Given the description of an element on the screen output the (x, y) to click on. 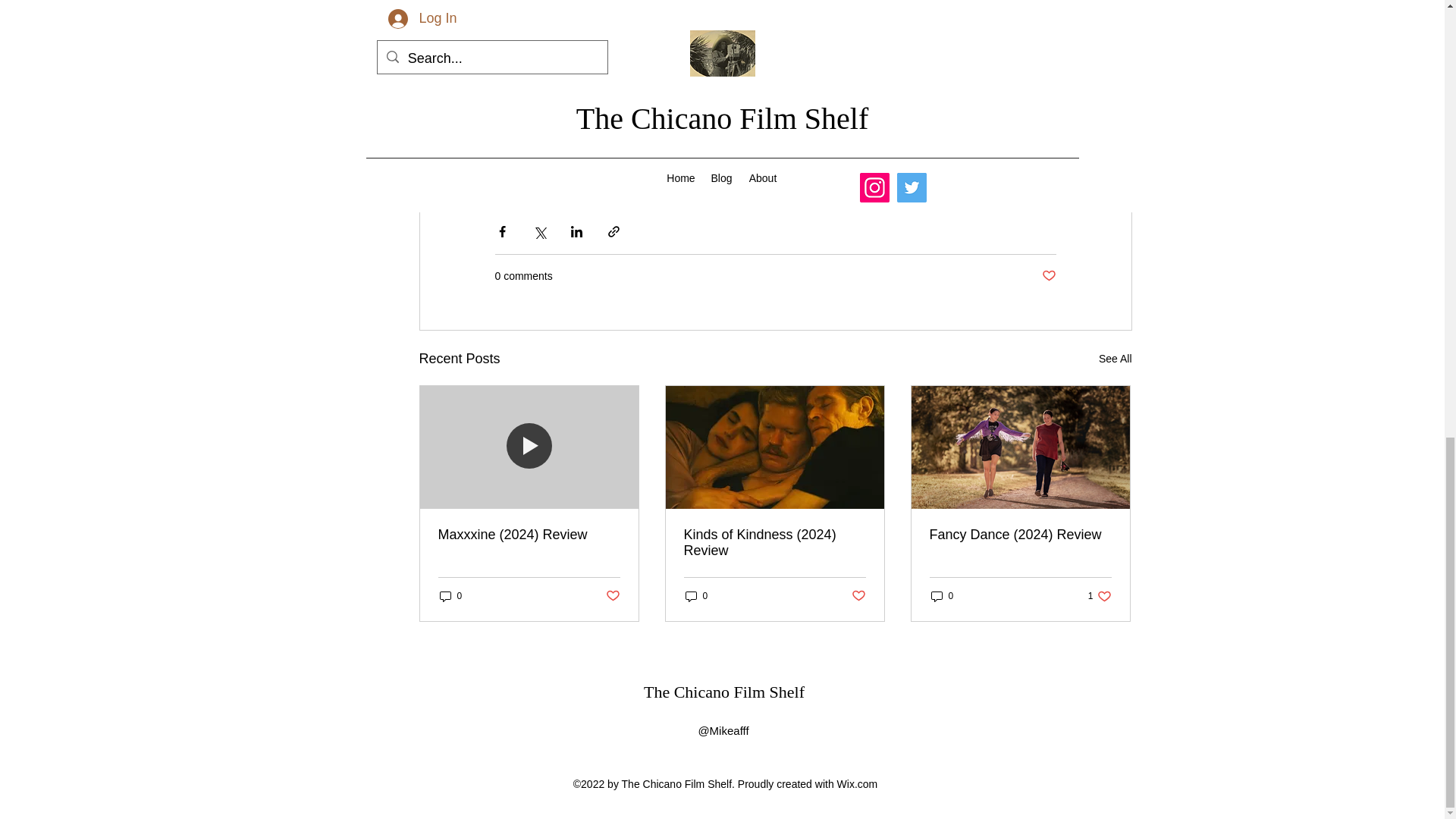
Post not marked as liked (857, 596)
0 (697, 595)
Post not marked as liked (612, 596)
0 (451, 595)
See All (1115, 359)
0 (942, 595)
Post not marked as liked (1049, 276)
